Given the description of an element on the screen output the (x, y) to click on. 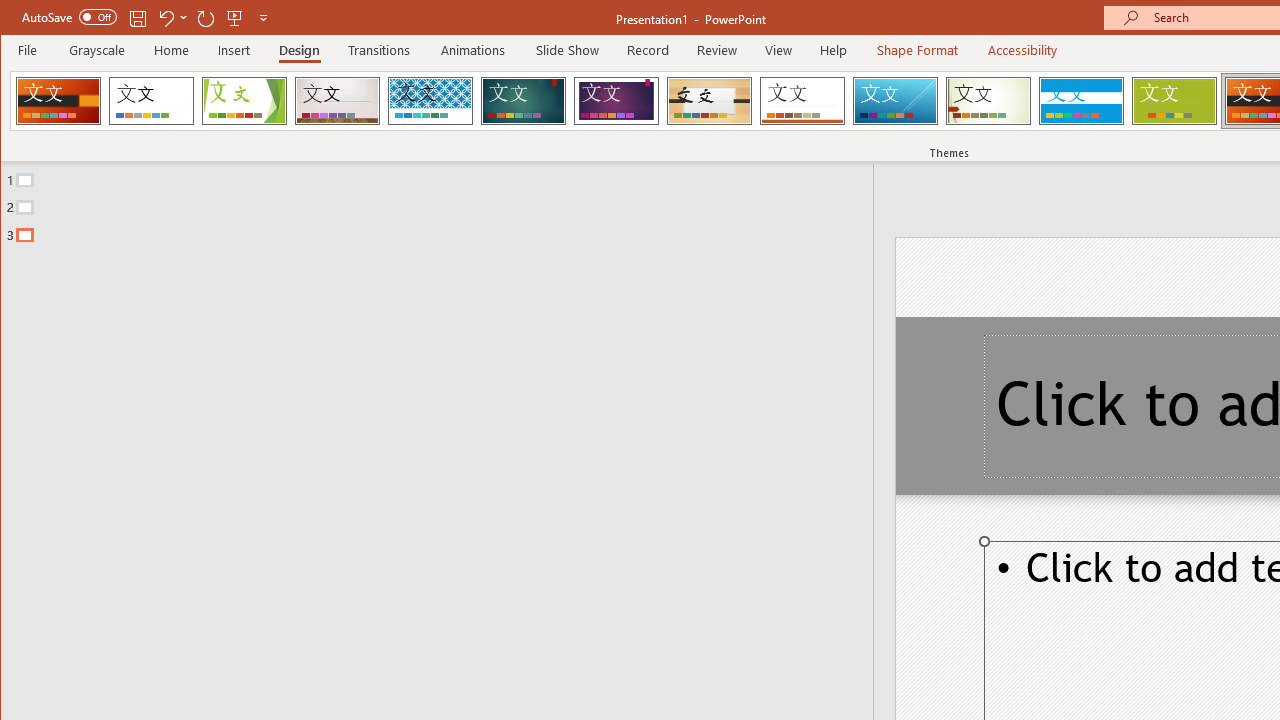
Banded (1081, 100)
Ion (523, 100)
Dividend (57, 100)
